Given the description of an element on the screen output the (x, y) to click on. 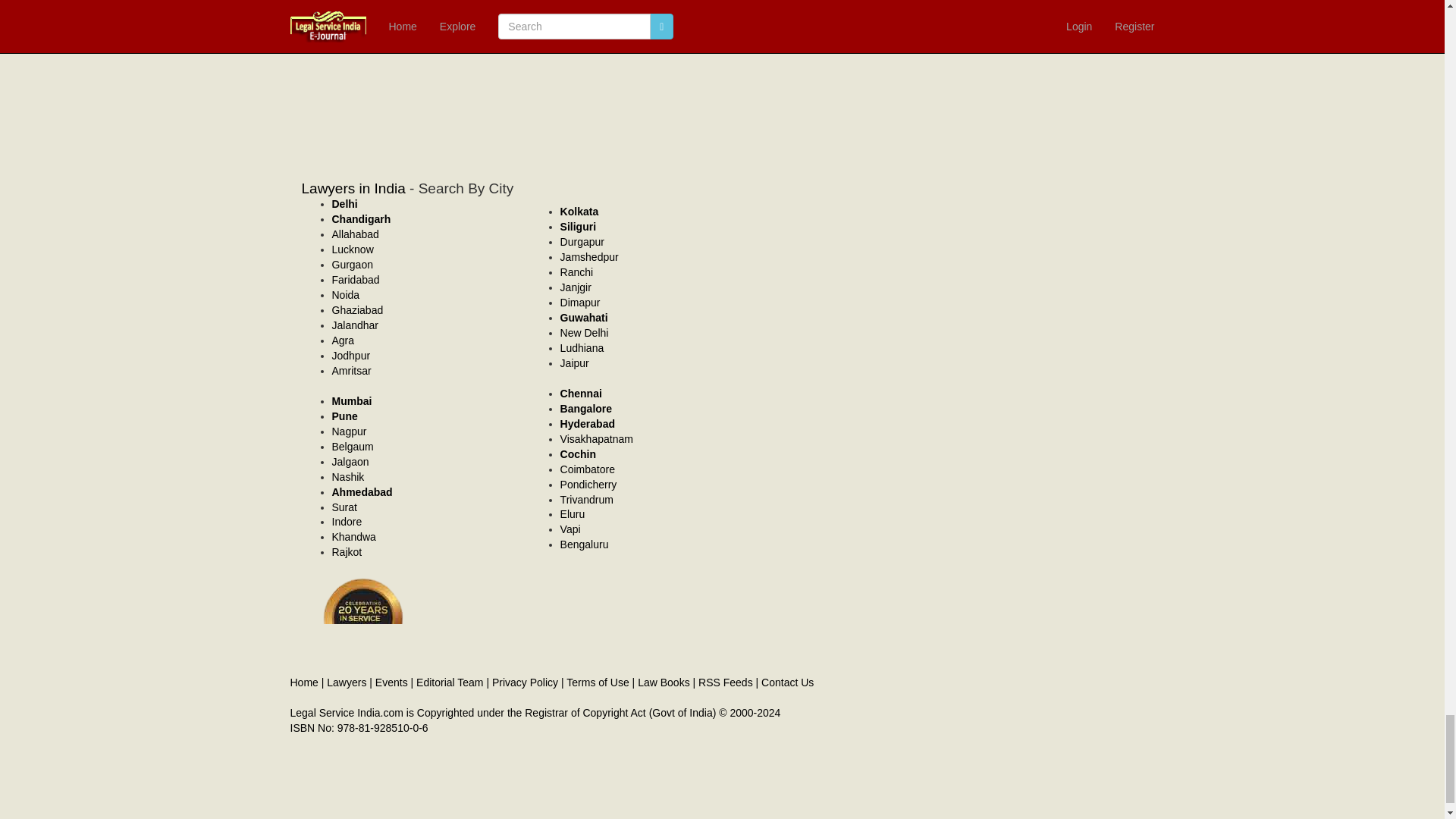
Lucknow (352, 249)
Lawyers in Chandigarh (361, 218)
Jalandhar (354, 325)
Lawyers in Lucknow (352, 249)
Mumbai (351, 400)
Gurgaon (351, 264)
Lawyers in India (353, 188)
Lawyers in Faridabad (355, 279)
Delhi (344, 203)
Allahabad (354, 234)
